Given the description of an element on the screen output the (x, y) to click on. 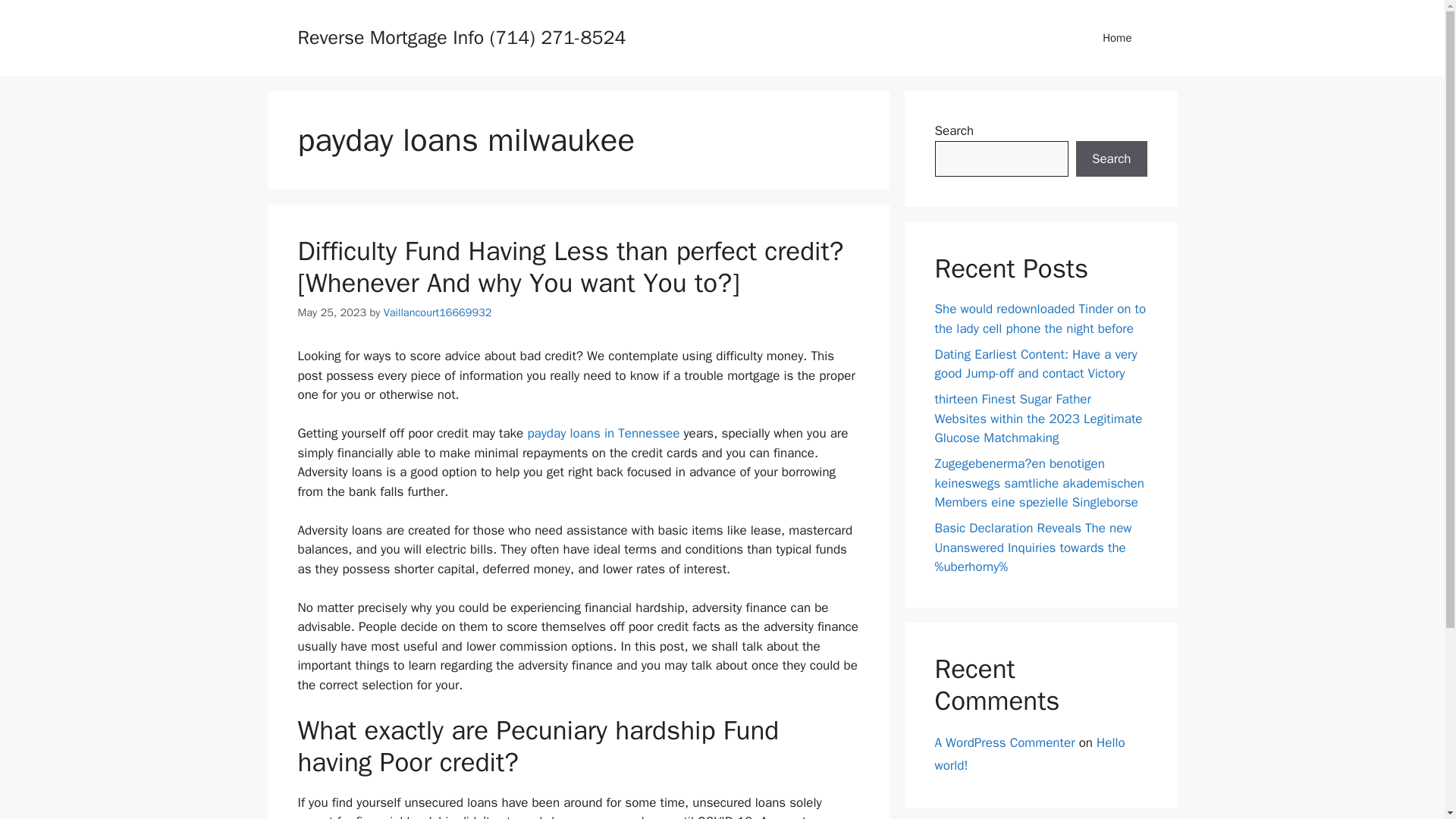
A WordPress Commenter (1004, 741)
Home (1117, 37)
Search (1111, 158)
payday loans in Tennessee (603, 433)
View all posts by Vaillancourt16669932 (438, 312)
Vaillancourt16669932 (438, 312)
